Given the description of an element on the screen output the (x, y) to click on. 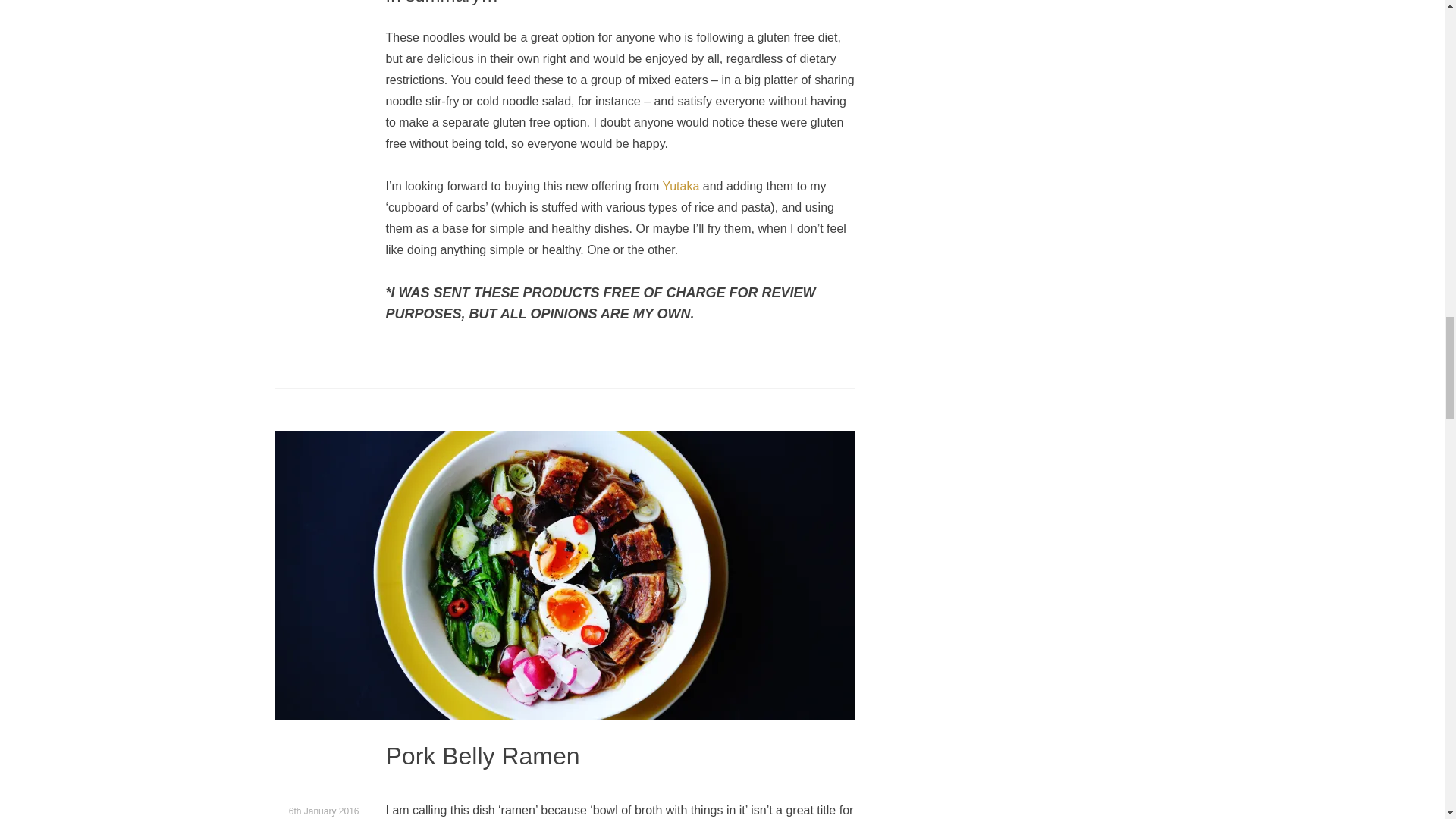
Yutaka (680, 186)
Pork Belly Ramen (482, 756)
6th January 2016 (323, 811)
